Given the description of an element on the screen output the (x, y) to click on. 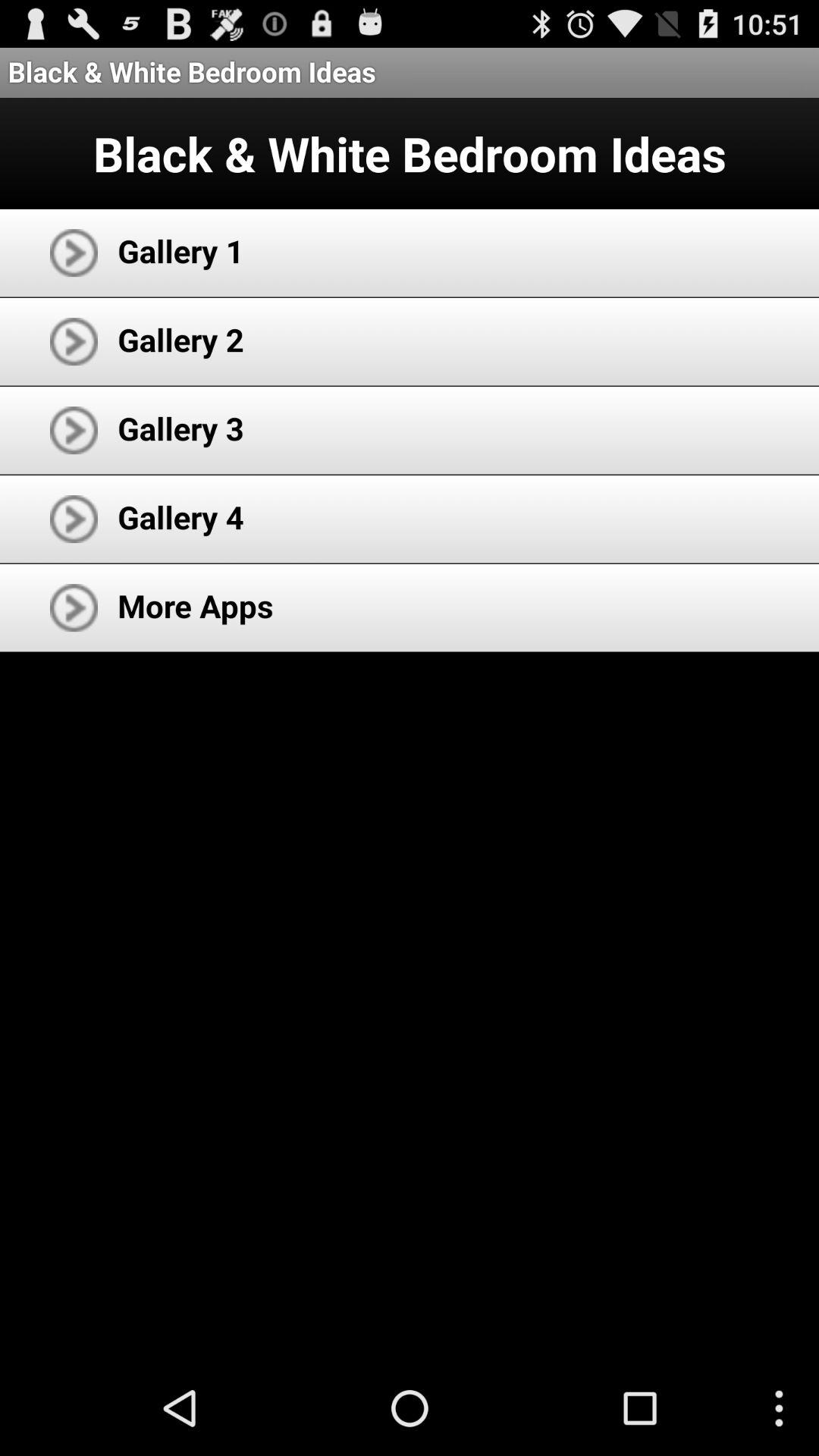
launch the app above gallery 2 icon (180, 250)
